Given the description of an element on the screen output the (x, y) to click on. 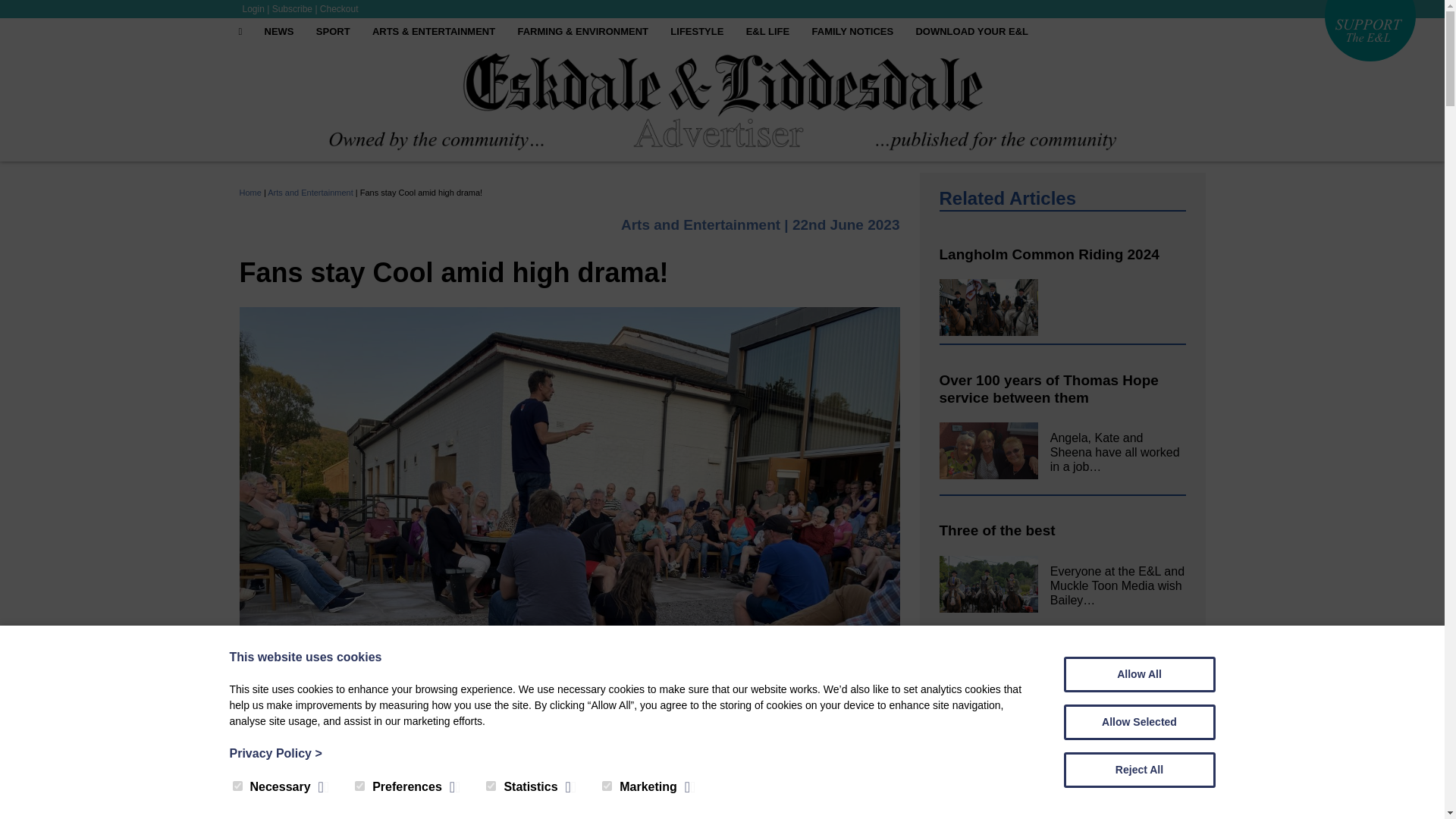
Checkout (339, 9)
NEWS (279, 31)
marketing (606, 786)
FAMILY NOTICES (852, 31)
Login (253, 9)
statistics (491, 786)
LIFESTYLE (696, 31)
Subscribe (292, 9)
preferences (360, 786)
SPORT (333, 31)
